Given the description of an element on the screen output the (x, y) to click on. 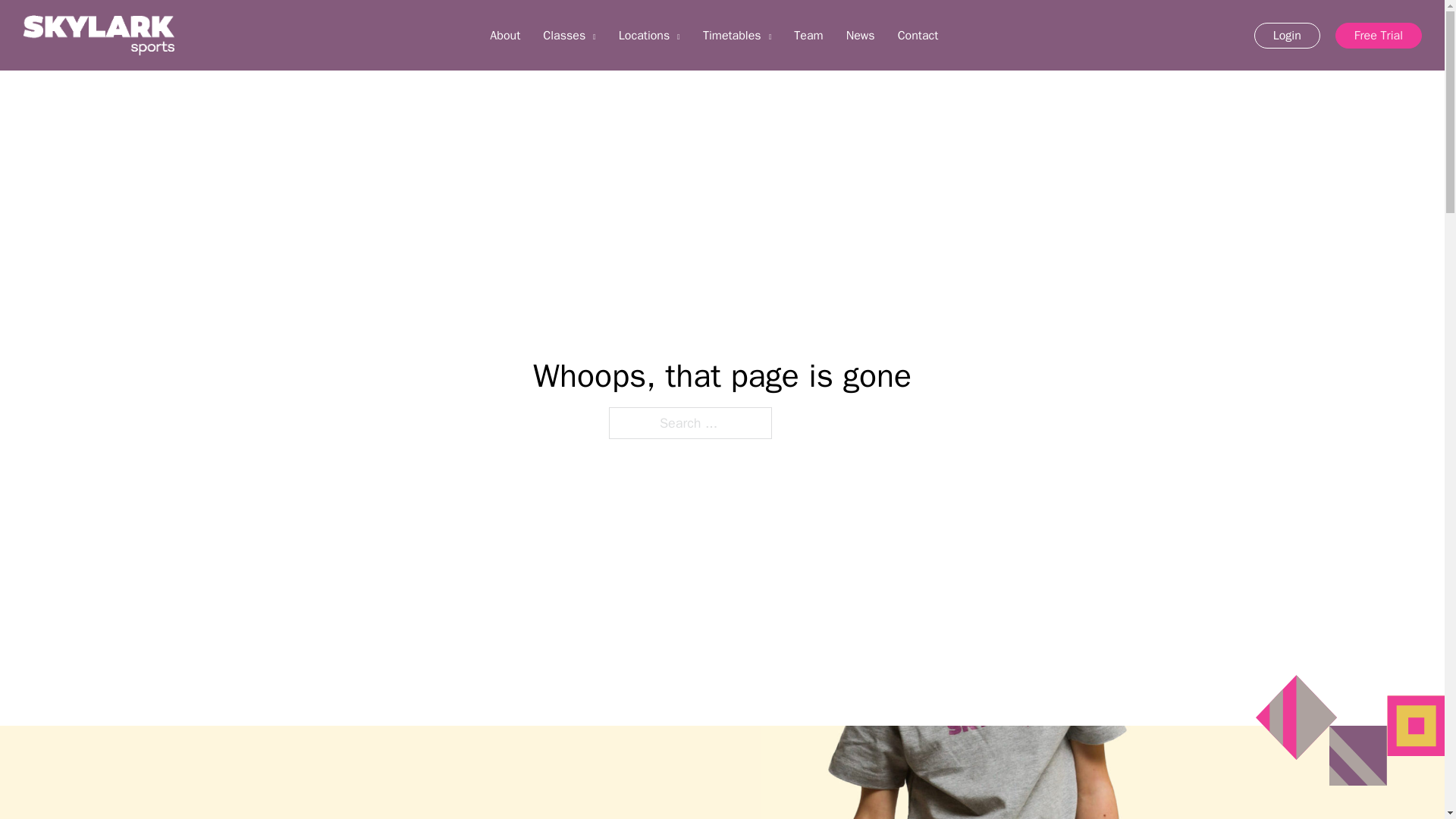
News (860, 35)
Free Trial (1378, 35)
Contact (918, 35)
Login (1286, 35)
Team (807, 35)
Locations (643, 35)
About (504, 35)
Classes (564, 35)
